Given the description of an element on the screen output the (x, y) to click on. 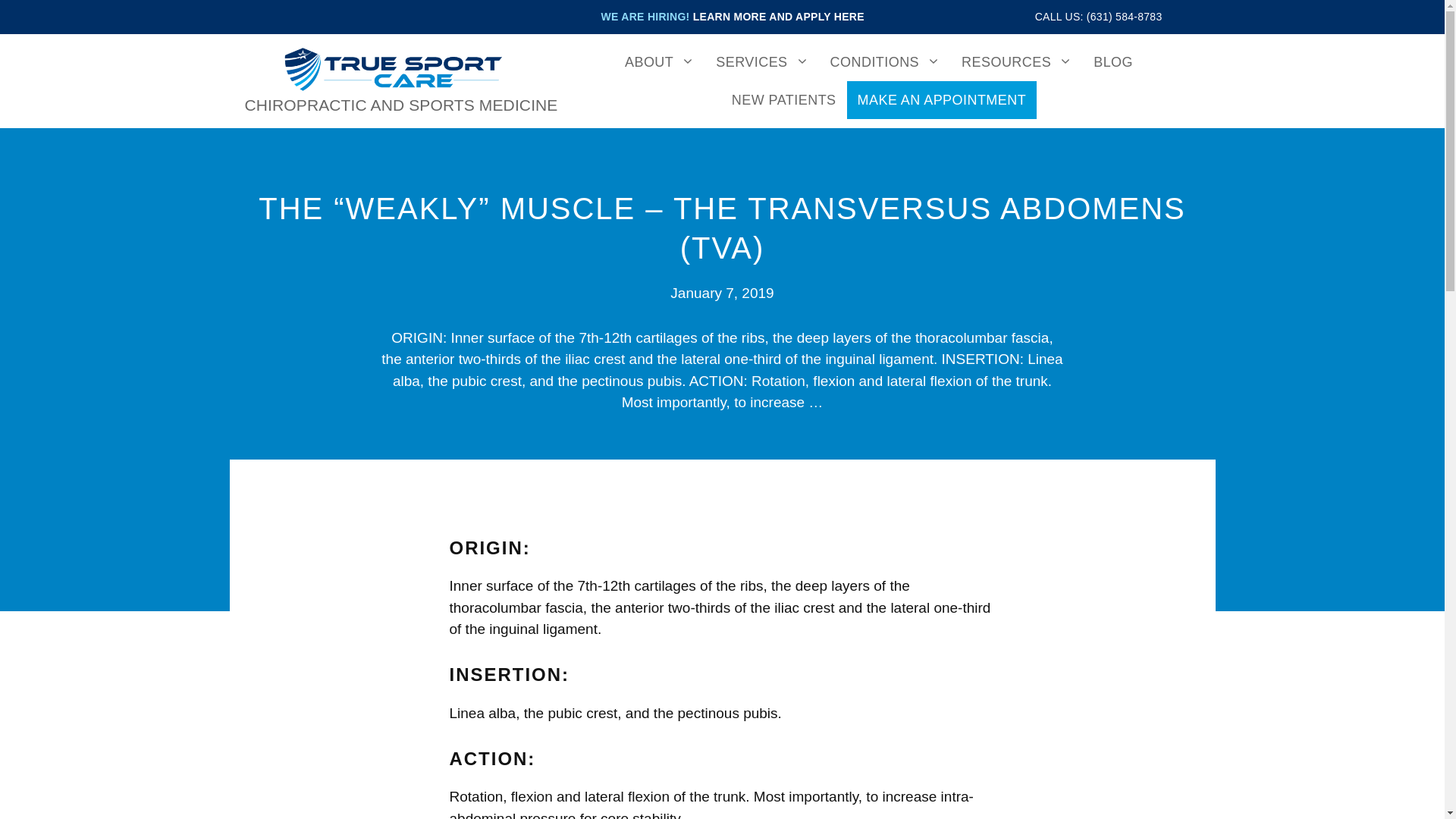
SERVICES (761, 62)
ABOUT (659, 62)
LEARN MORE AND APPLY HERE (778, 16)
CONDITIONS (885, 62)
